Given the description of an element on the screen output the (x, y) to click on. 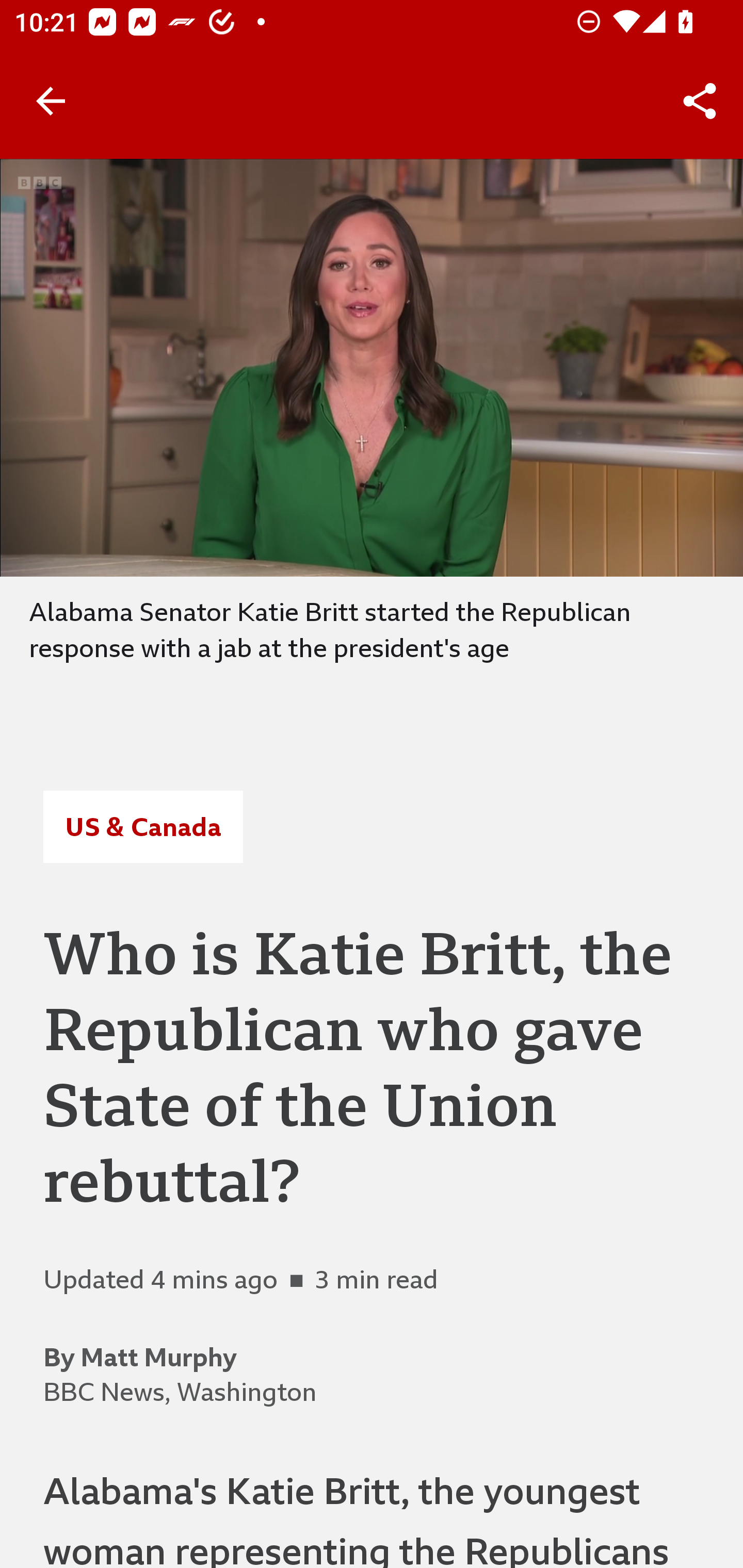
Back (50, 101)
Share (699, 101)
Player (371, 367)
US & Canada (142, 827)
